Given the description of an element on the screen output the (x, y) to click on. 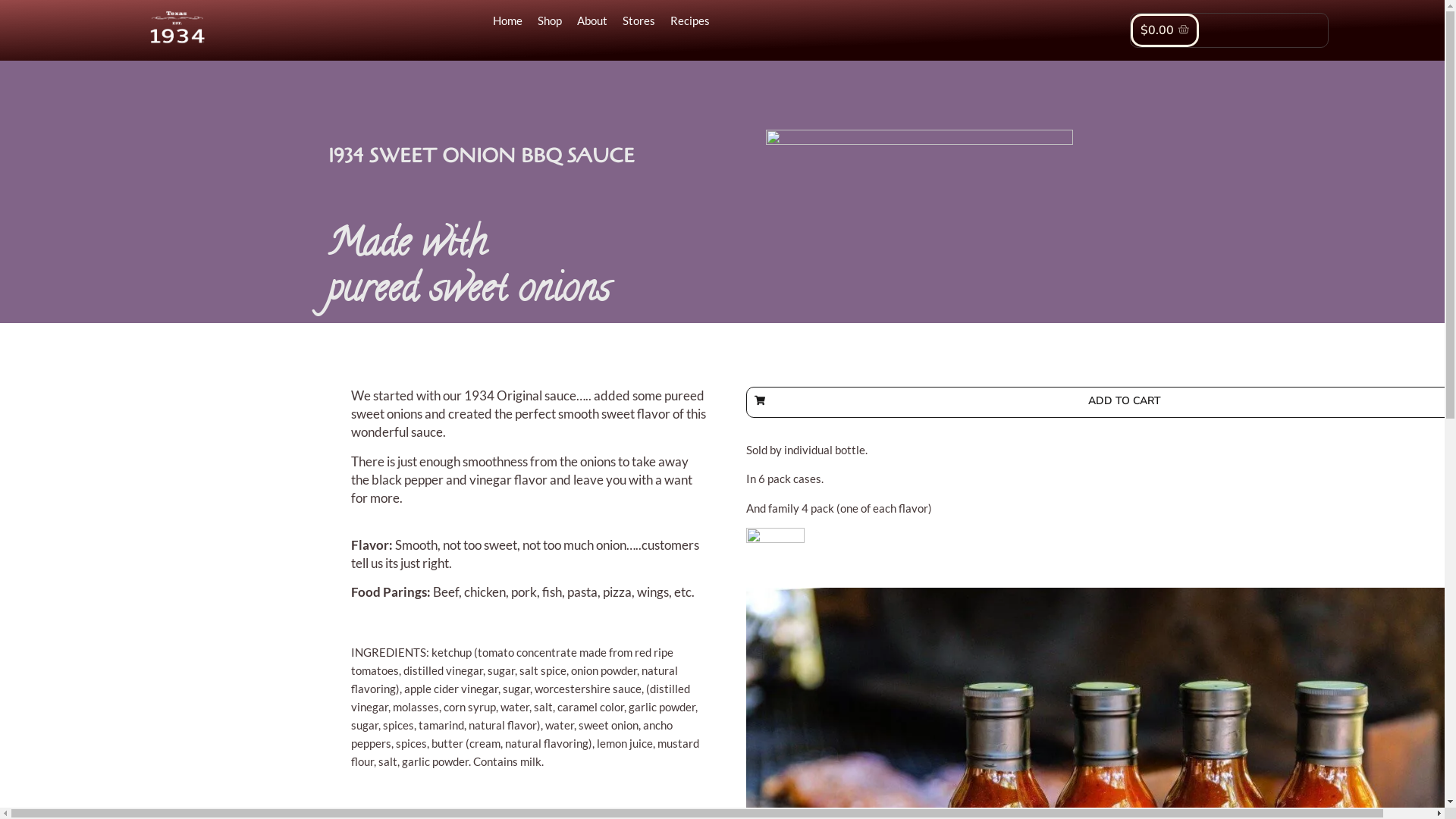
Recipes Element type: text (689, 21)
$0.00 Element type: text (1164, 30)
Shop Element type: text (548, 21)
Stores Element type: text (637, 21)
About Element type: text (591, 21)
Home Element type: text (507, 21)
